Given the description of an element on the screen output the (x, y) to click on. 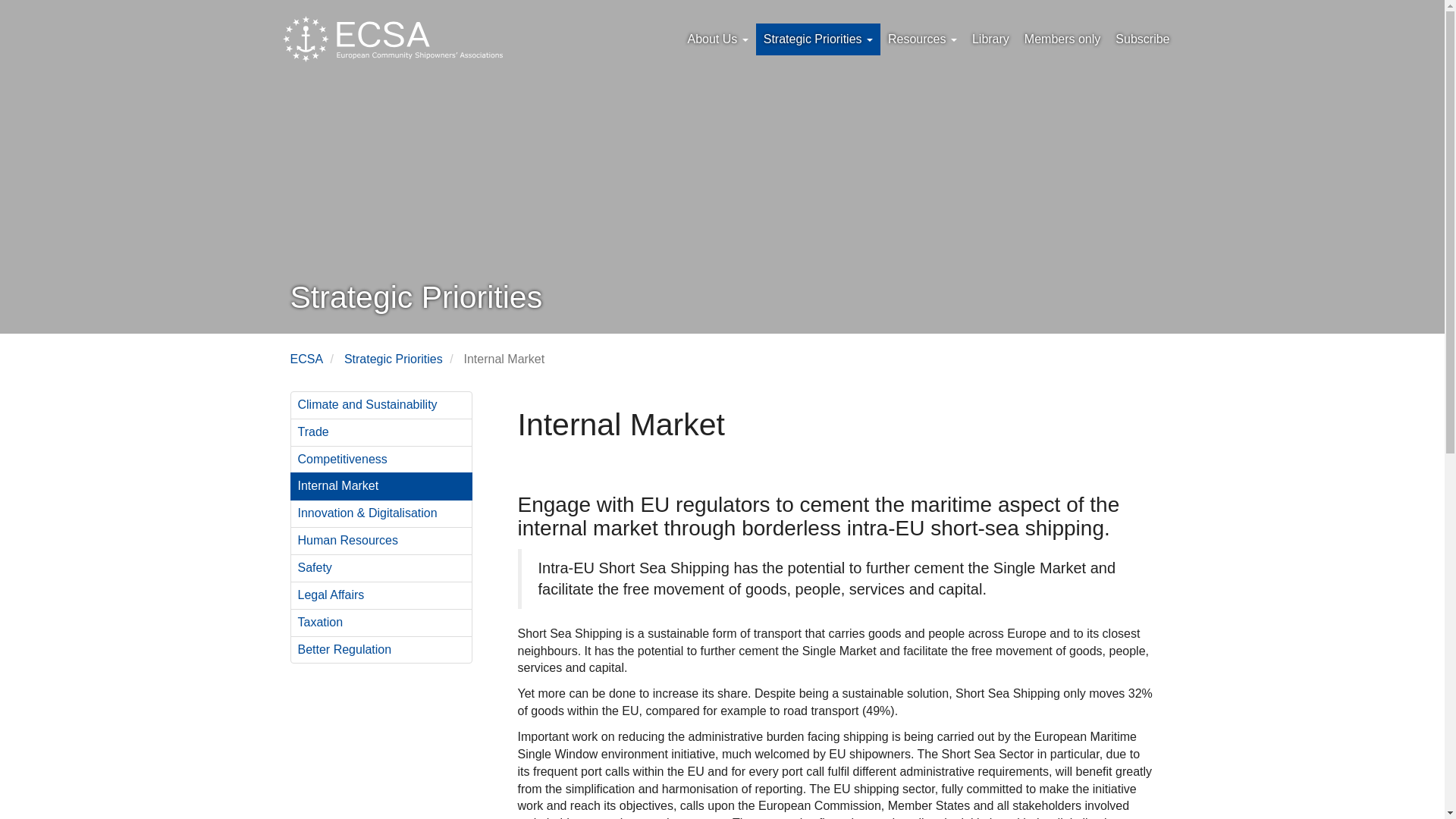
Subscribe (1142, 39)
Climate and Sustainability (381, 405)
Strategic Priorities (392, 358)
Trade (381, 432)
Members only (1062, 39)
Library (989, 39)
About Us (717, 39)
Resources (921, 39)
Competitiveness (381, 459)
